Given the description of an element on the screen output the (x, y) to click on. 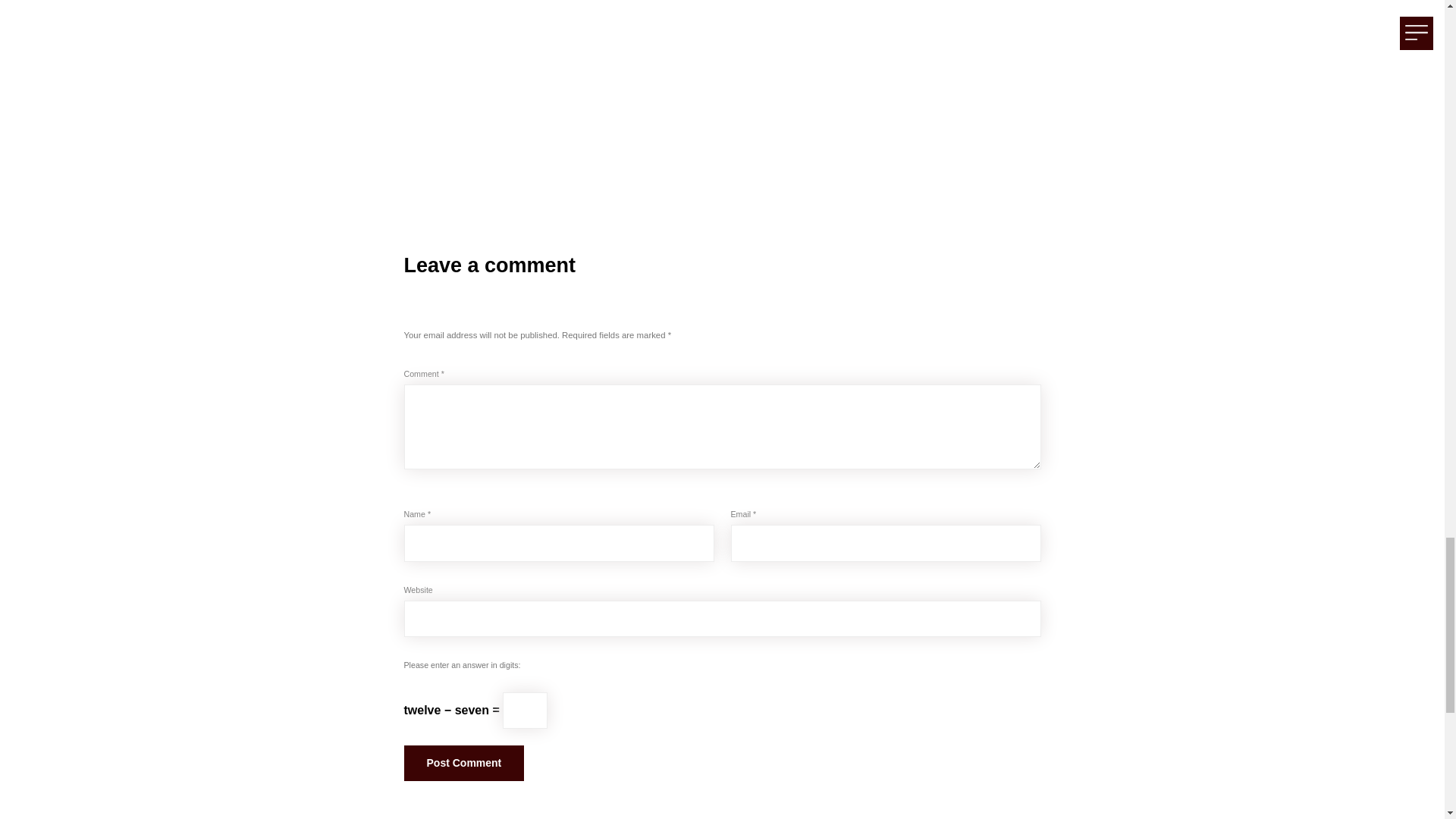
Post Comment (463, 763)
